Given the description of an element on the screen output the (x, y) to click on. 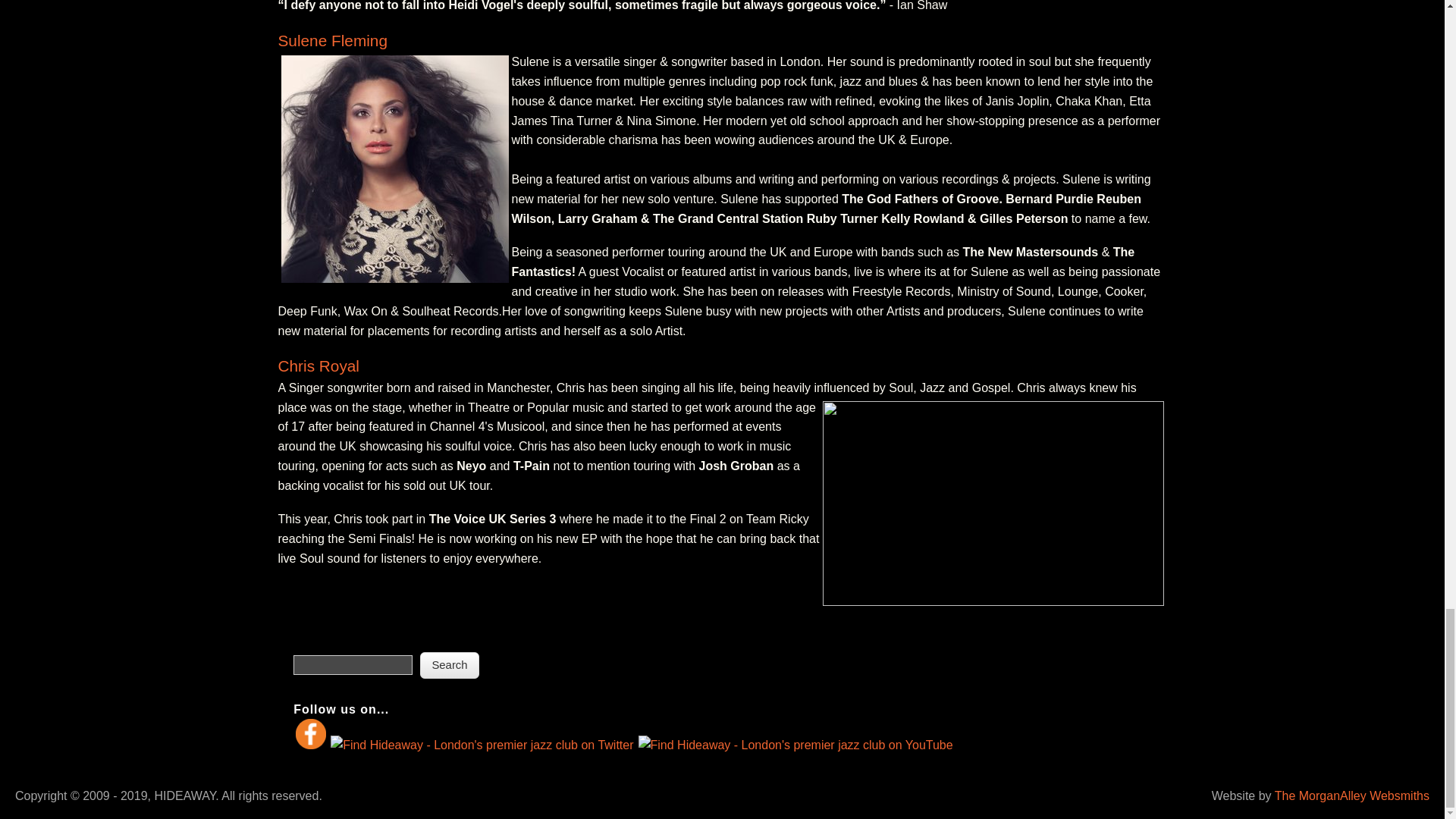
Enter the terms you wish to search for. (353, 664)
Find Hideaway - London's premier jazz club on Facebook (311, 734)
Find Hideaway - London's premier jazz club on Twitter (481, 745)
Search (450, 664)
Search (450, 664)
Find Hideaway - London's premier jazz club on YouTube (795, 744)
The MorganAlley Websmiths (1352, 795)
Find Hideaway - London's premier jazz club on Facebook (311, 744)
Find Hideaway - London's premier jazz club on Twitter (481, 744)
Find Hideaway - London's premier jazz club on YouTube (795, 745)
